Given the description of an element on the screen output the (x, y) to click on. 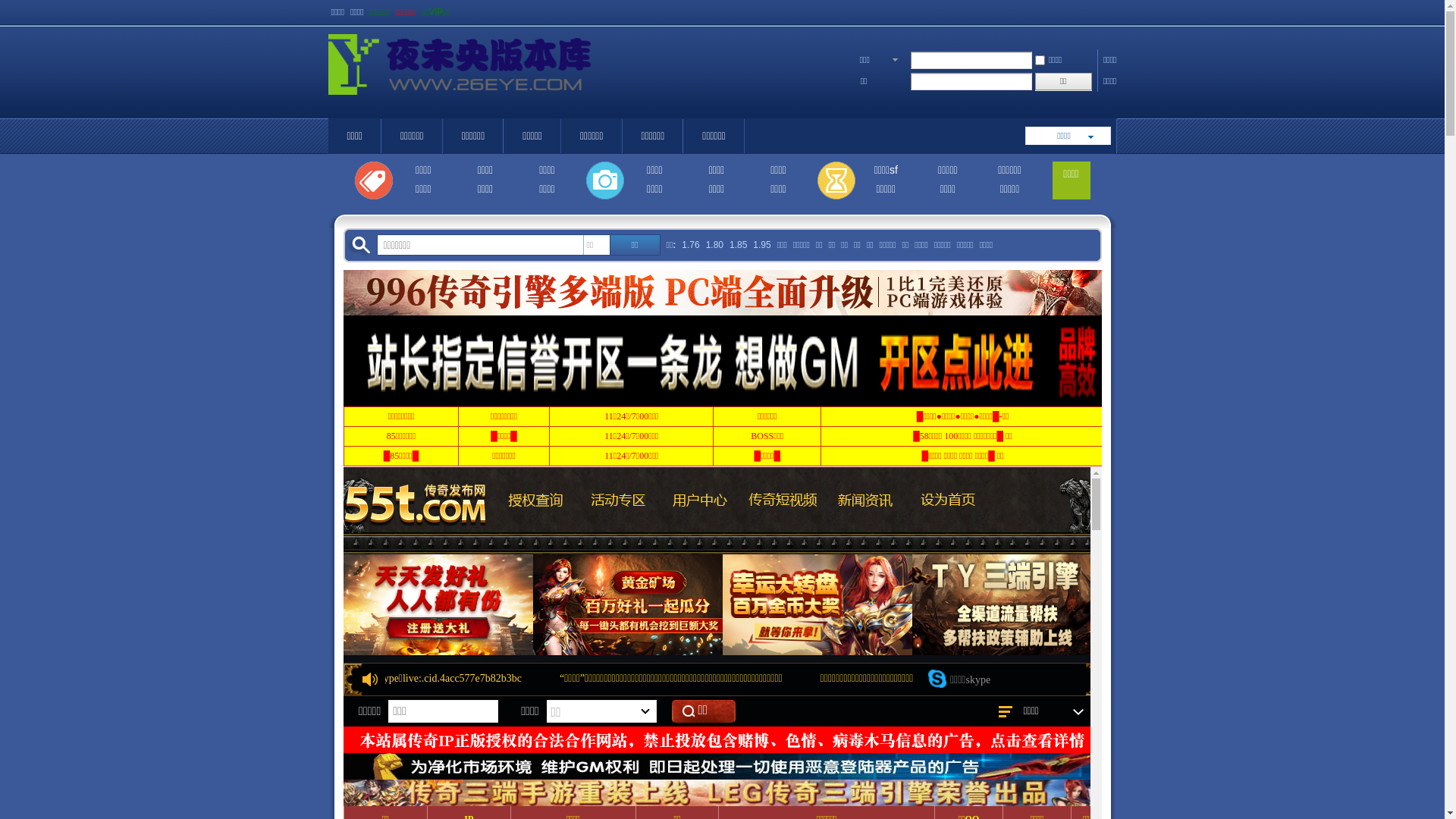
1.85 Element type: text (737, 245)
1.76 Element type: text (690, 245)
1.80 Element type: text (714, 245)
1.95 Element type: text (761, 245)
